Given the description of an element on the screen output the (x, y) to click on. 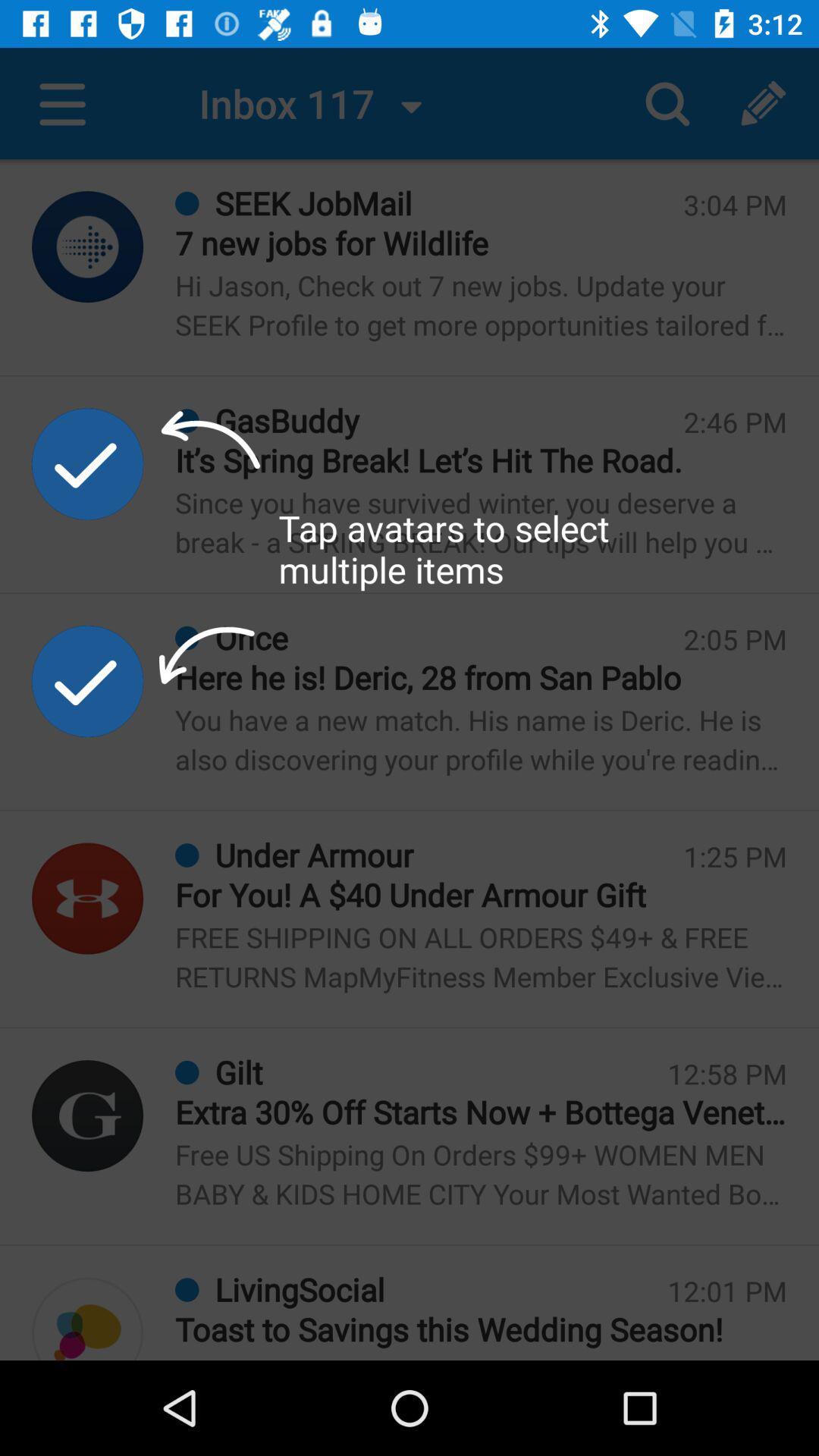
read message (87, 1318)
